Given the description of an element on the screen output the (x, y) to click on. 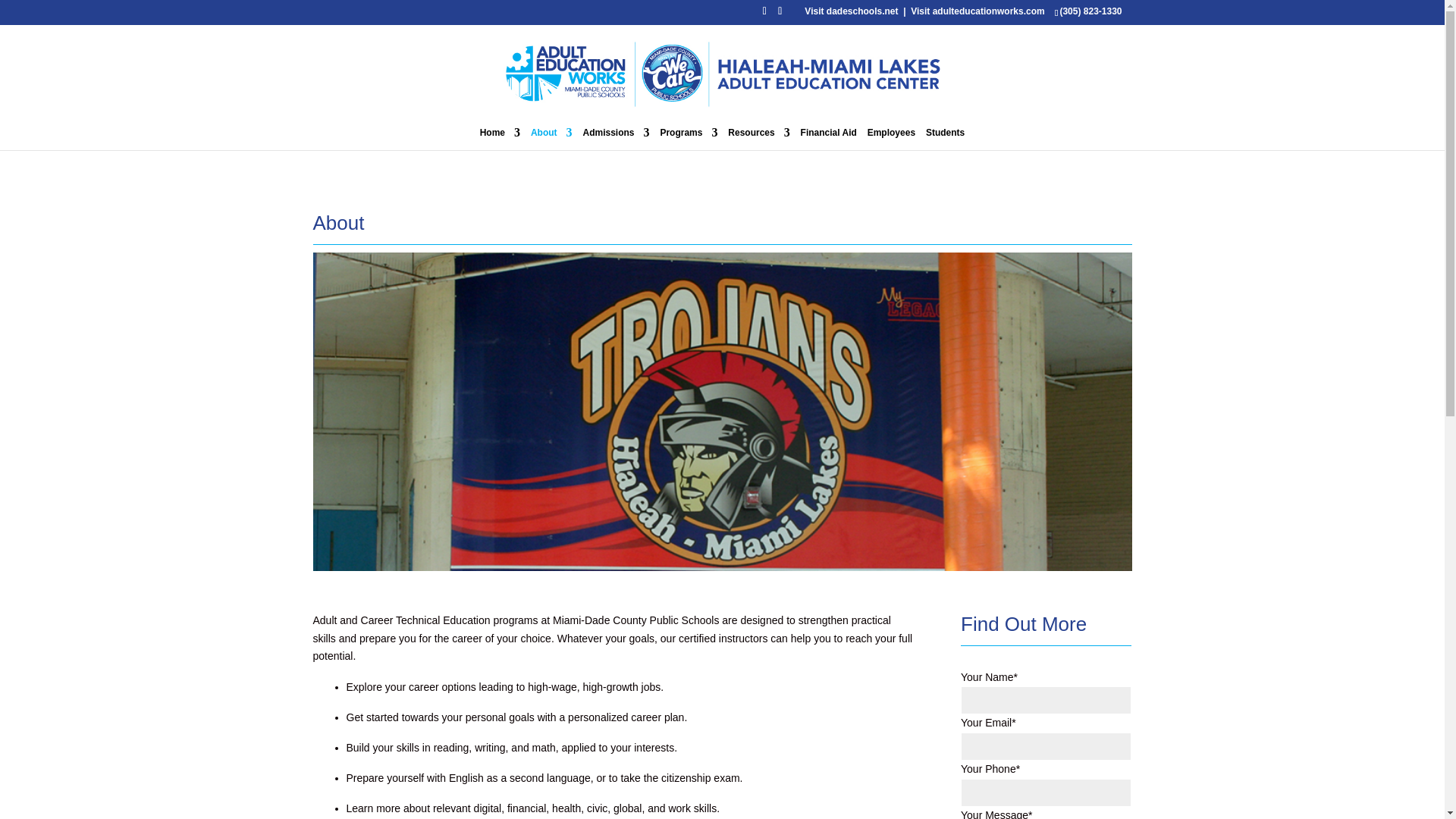
Home (499, 138)
Admissions (615, 138)
Resources (758, 138)
Employees (891, 138)
Financial Aid (828, 138)
About (551, 138)
Visit adulteducationworks.com (977, 10)
Visit dadeschools.net (851, 10)
Programs (688, 138)
